Given the description of an element on the screen output the (x, y) to click on. 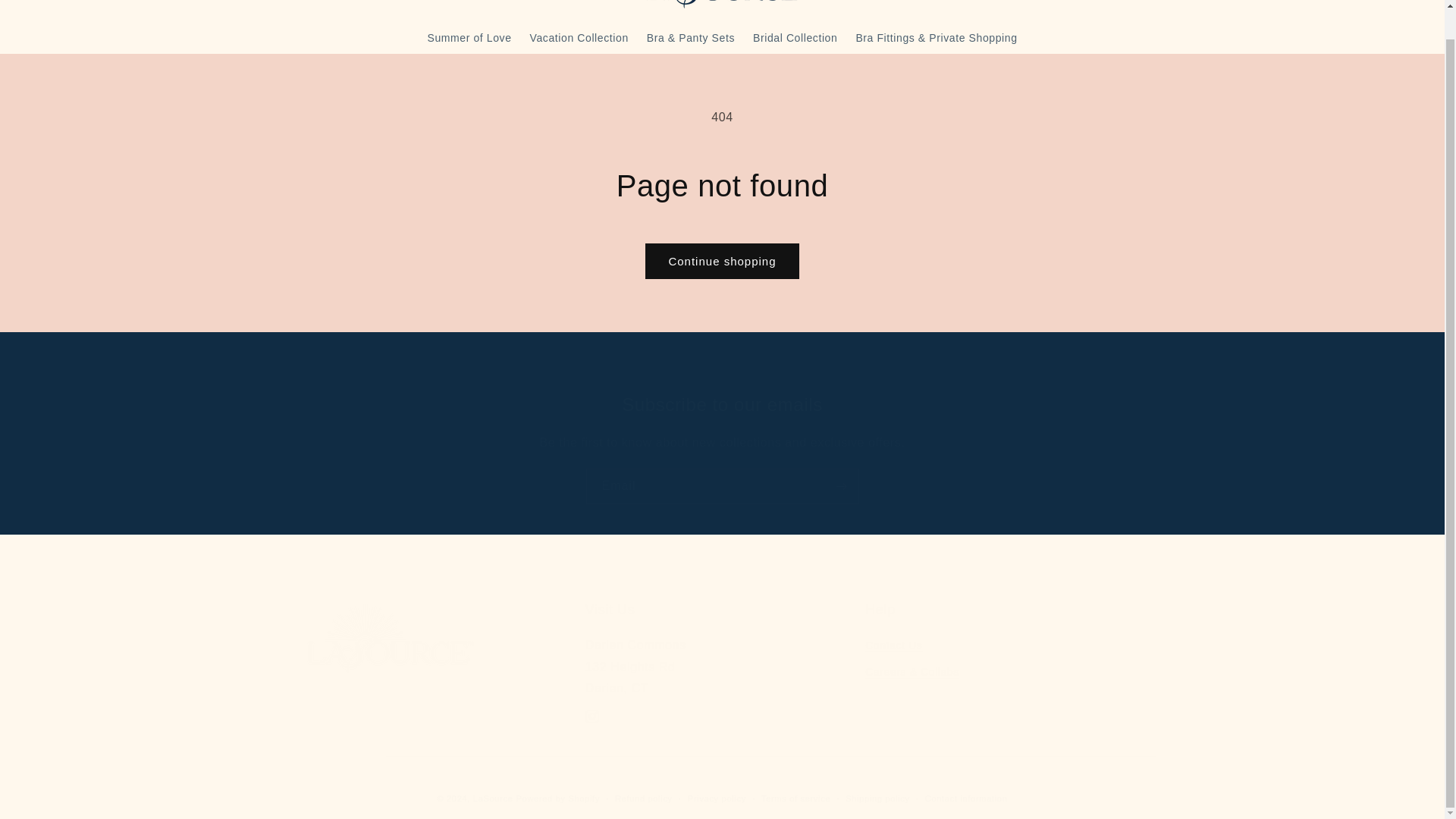
Skip to content (45, 2)
Shipping policy (877, 798)
Subscribe to our emails (721, 404)
Refund policy (643, 798)
LaSource (493, 798)
Email (722, 667)
Vacation Collection (722, 486)
Privacy policy (579, 38)
Bridal Collection (716, 798)
Contact Us (794, 38)
Instagram (892, 647)
Summer of Love (591, 716)
Cart (468, 38)
